Given the description of an element on the screen output the (x, y) to click on. 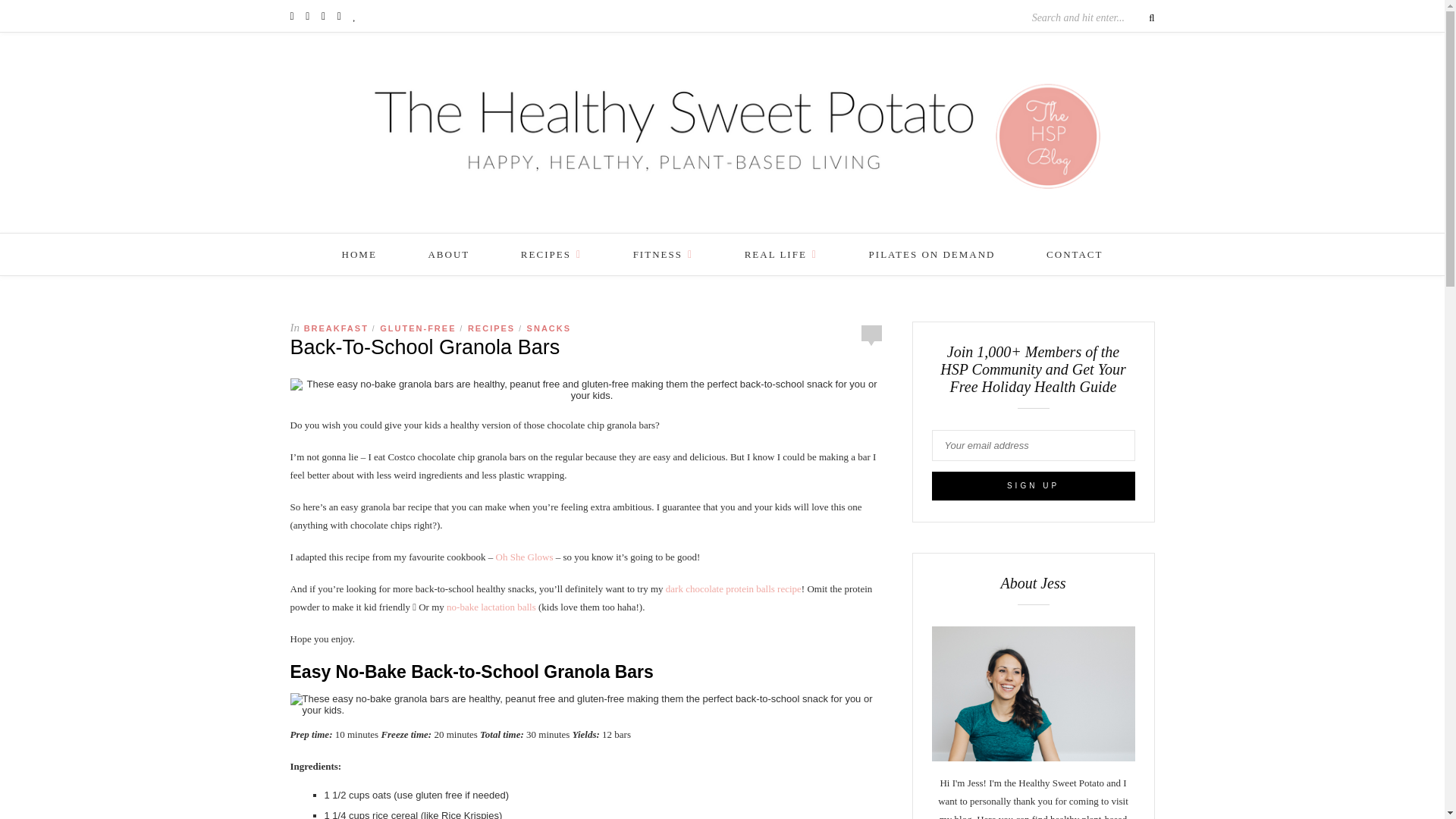
REAL LIFE (780, 254)
RECIPES (550, 254)
Sign up (1032, 485)
BREAKFAST (336, 327)
dark chocolate protein balls recipe (733, 588)
RECIPES (491, 327)
PILATES ON DEMAND (932, 254)
no-bake lactation balls (490, 606)
ABOUT (448, 254)
GLUTEN-FREE (417, 327)
